Given the description of an element on the screen output the (x, y) to click on. 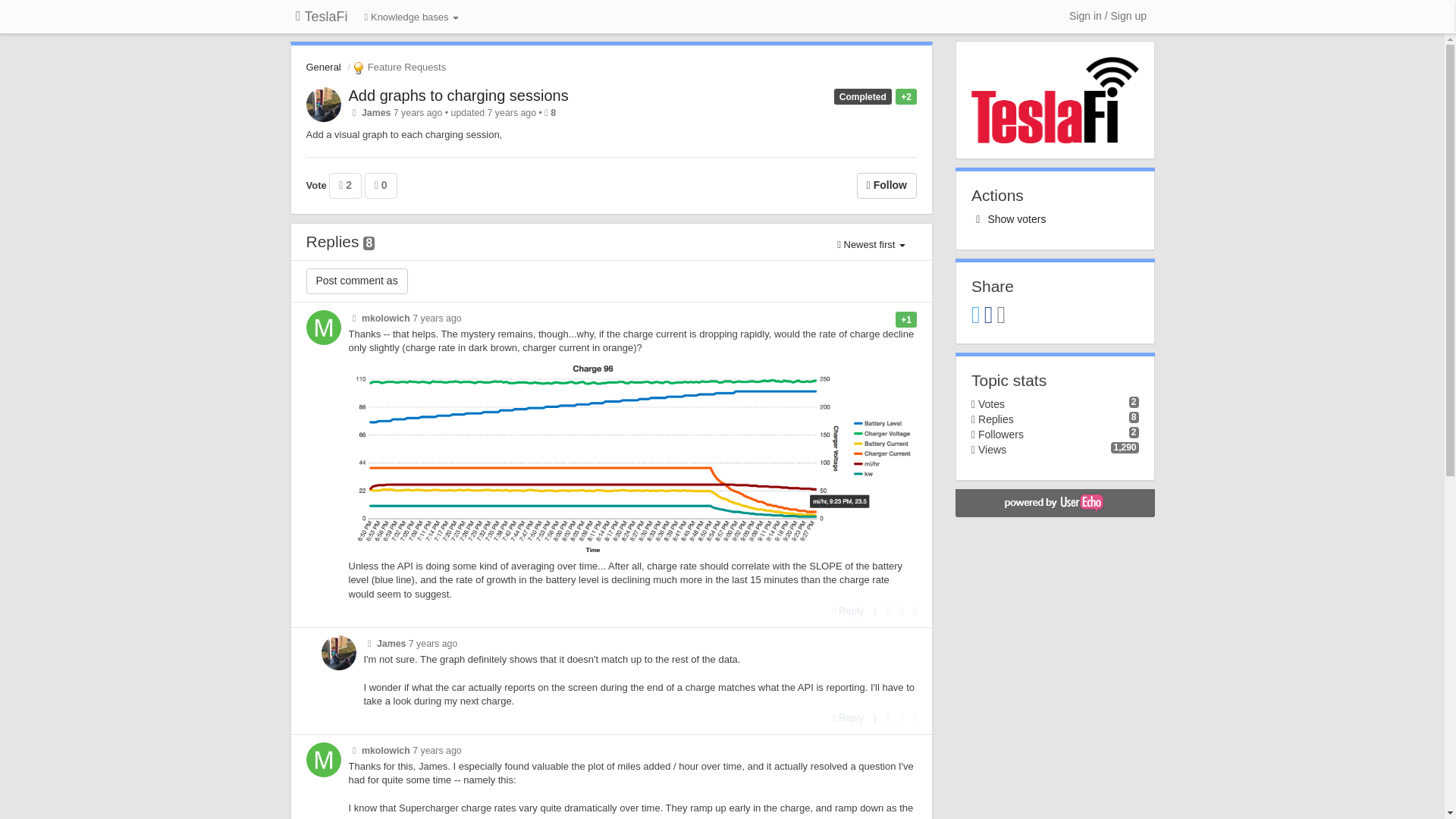
Follow (887, 185)
Add graphs to charging sessions (459, 95)
Post comment as (356, 281)
James (391, 643)
General (322, 66)
TeslaFi (321, 16)
mkolowich (385, 750)
Reply (848, 610)
Newest first (871, 245)
7 years ago (436, 750)
Knowledge bases (411, 17)
Post comment as (356, 281)
0 (381, 185)
2 (345, 185)
7 years ago (433, 643)
